Given the description of an element on the screen output the (x, y) to click on. 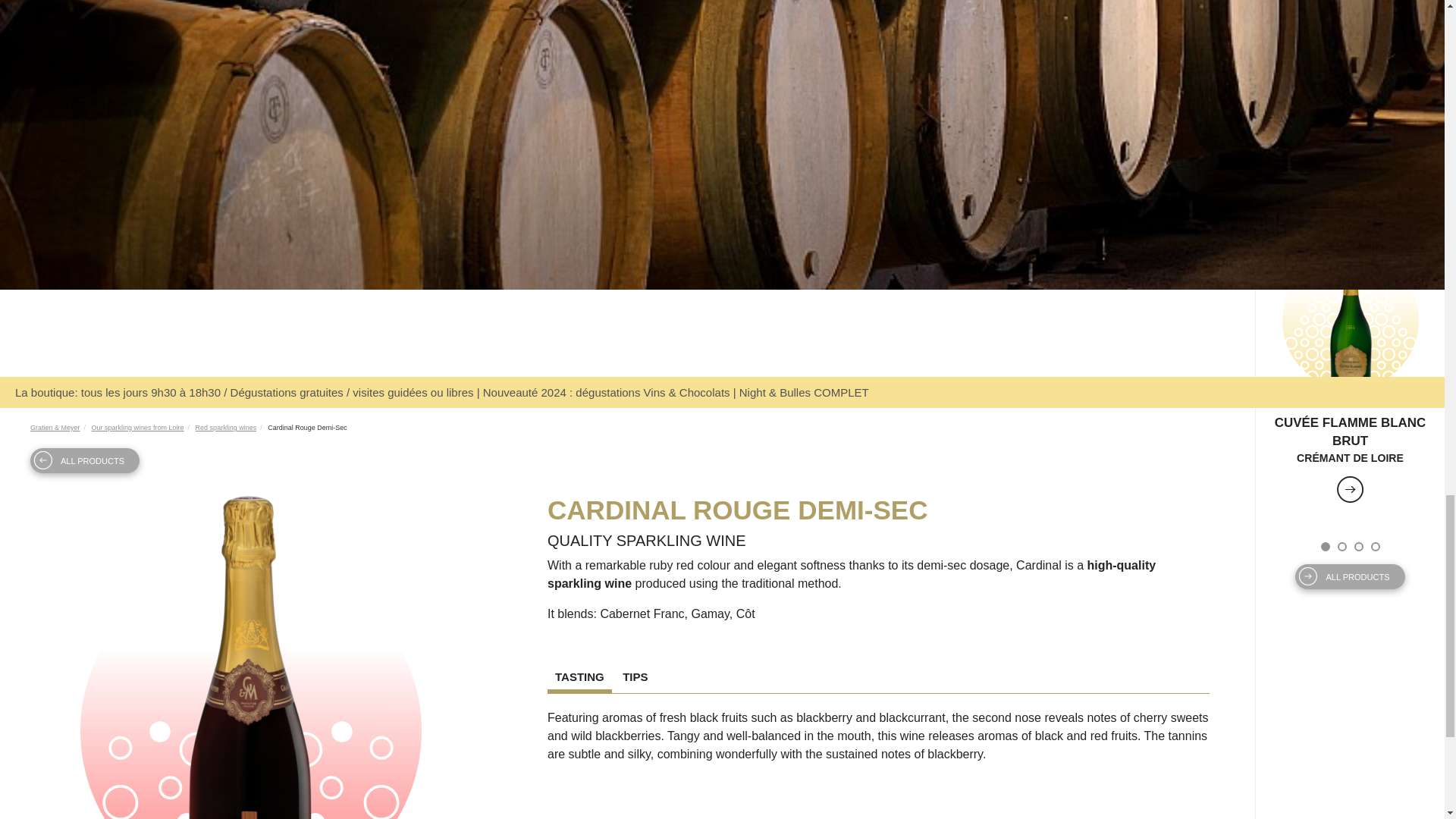
EN (733, 362)
Our sparkling wines from Loire (137, 427)
Red sparkling wines (226, 427)
FR (710, 362)
Fr (710, 362)
MENU (68, 332)
ALL PRODUCTS (84, 460)
En (733, 362)
